Given the description of an element on the screen output the (x, y) to click on. 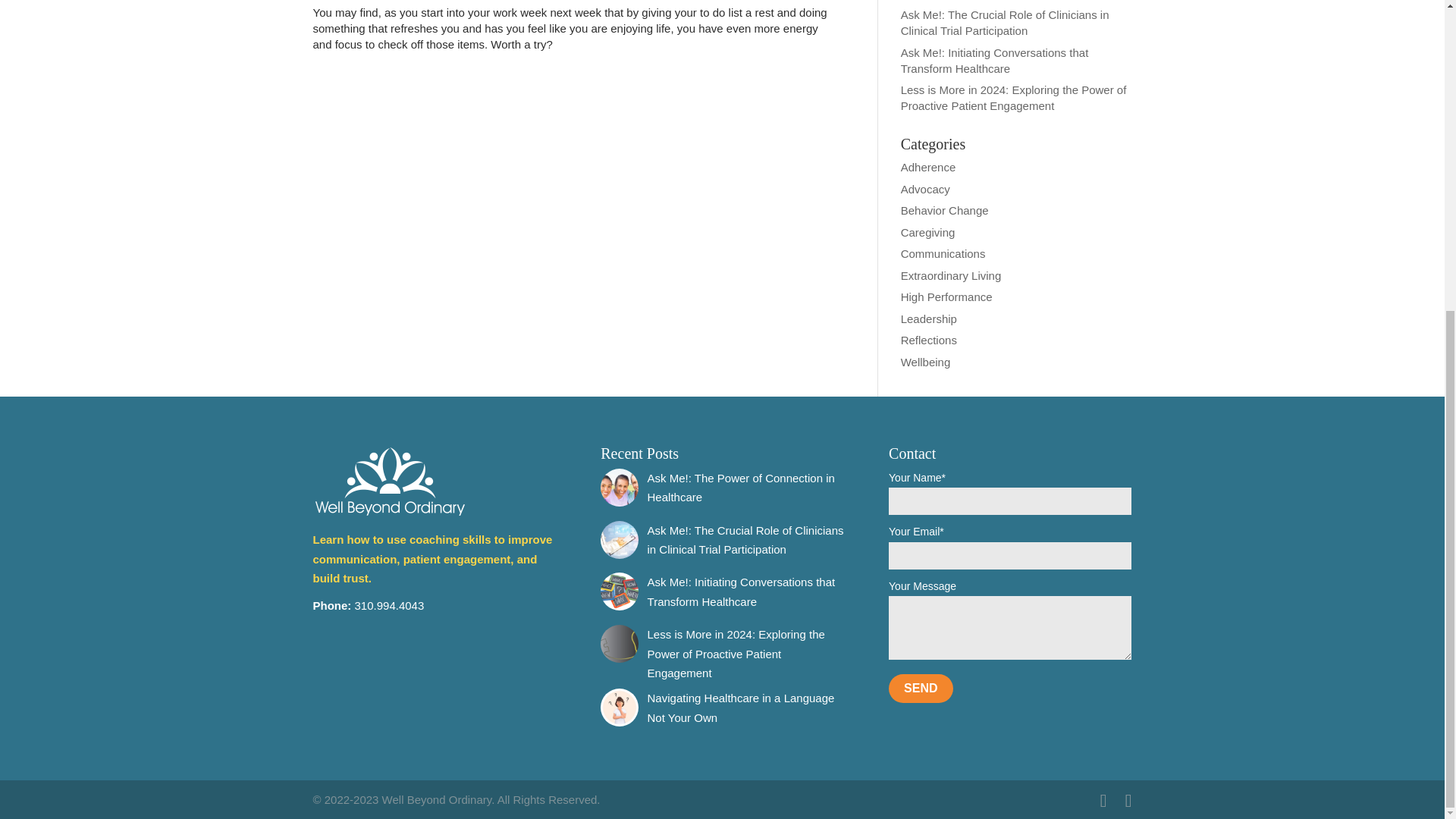
Behavior Change (944, 210)
Navigating Healthcare in a Language Not Your Own (740, 707)
Caregiving (928, 232)
Ask Me!: Initiating Conversations that Transform Healthcare (741, 591)
SEND (920, 688)
Wellbeing (925, 360)
Leadership (928, 318)
Adherence (928, 166)
